Given the description of an element on the screen output the (x, y) to click on. 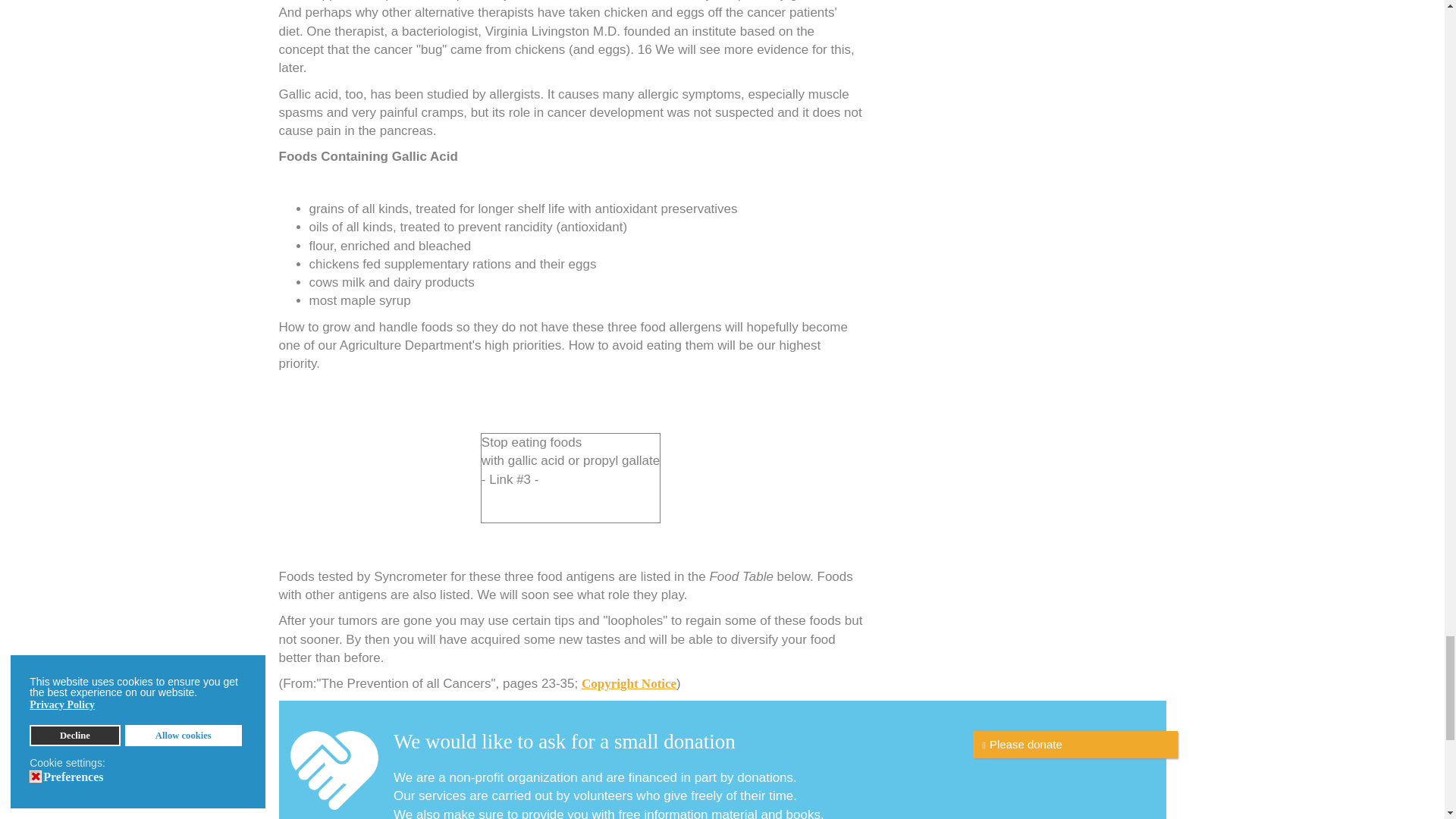
Copyright Notice (628, 683)
PayPal - The safer, easier way to pay online! (1074, 744)
